Given the description of an element on the screen output the (x, y) to click on. 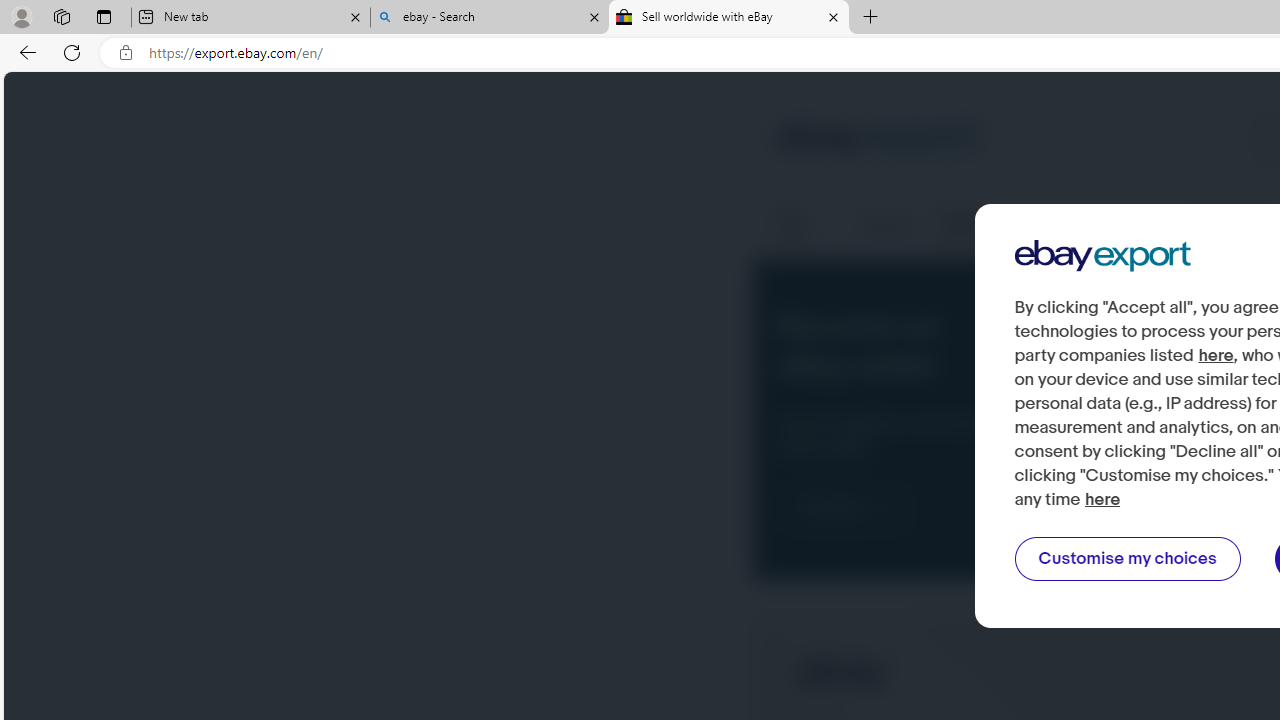
Sell worldwide with eBay (729, 17)
Find out (845, 507)
Manage listings (981, 225)
